Given the description of an element on the screen output the (x, y) to click on. 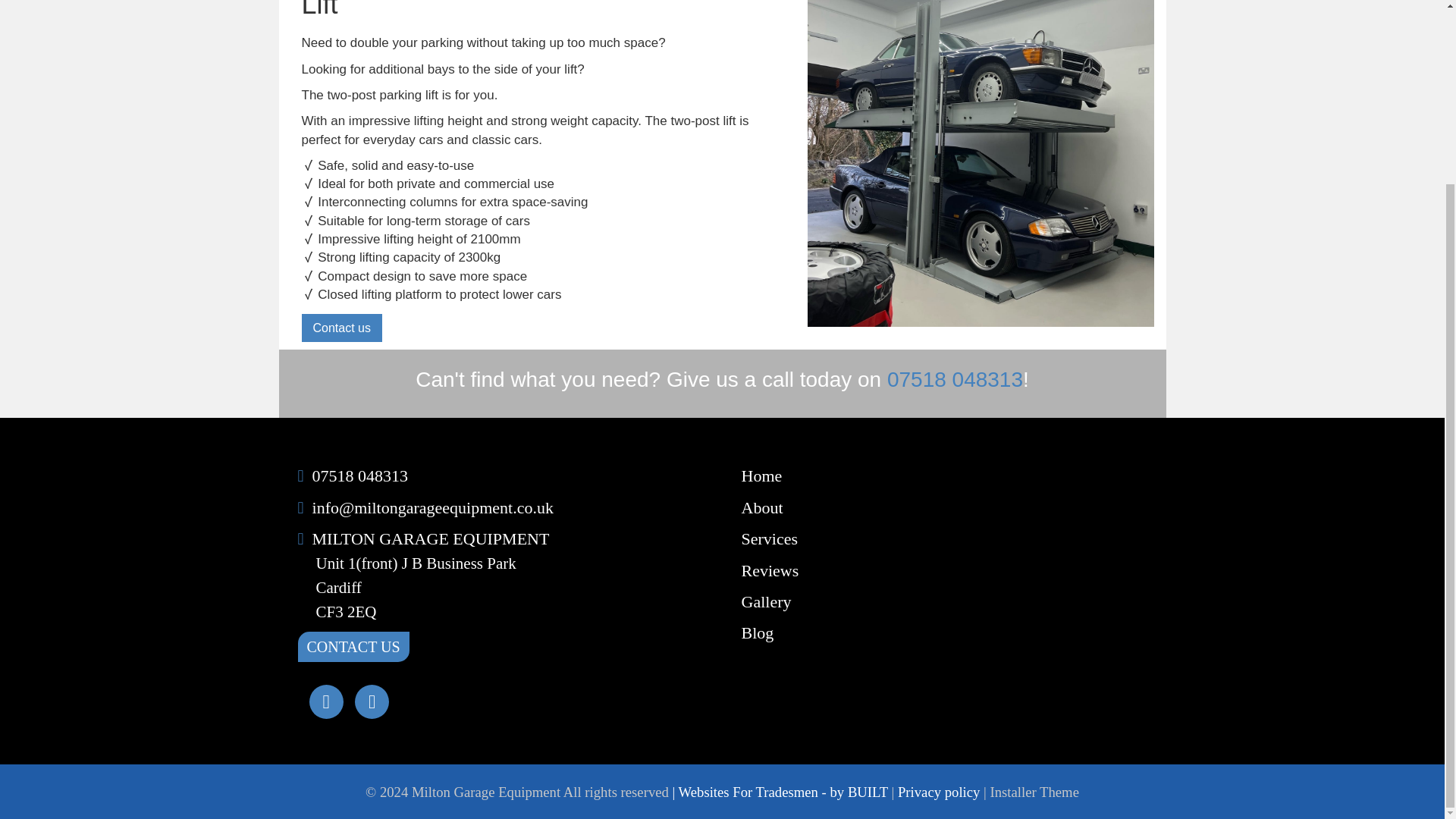
Home (762, 475)
Services (769, 538)
CONTACT US (353, 646)
Gallery (766, 601)
About (762, 506)
07518 048313 (361, 475)
Contact us (341, 327)
Reviews (770, 570)
